Given the description of an element on the screen output the (x, y) to click on. 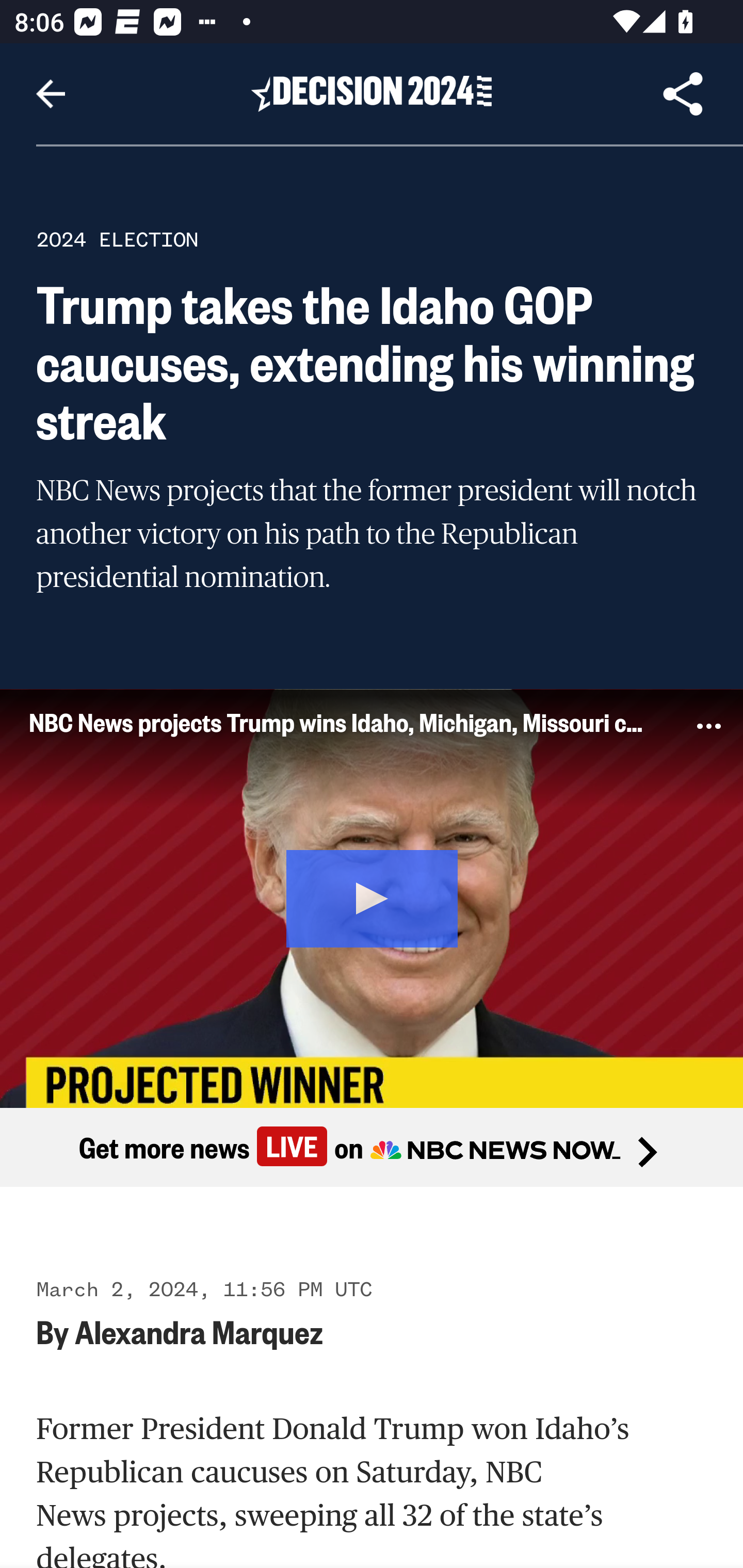
Navigate up (50, 93)
Share Article, button (683, 94)
Header, Decision 2024 (371, 93)
2024 ELECTION (117, 239)
Video Player Unable to play media. Play   (371, 897)
Play (372, 896)
Get more news Live on Get more news Live on (371, 1147)
